Given the description of an element on the screen output the (x, y) to click on. 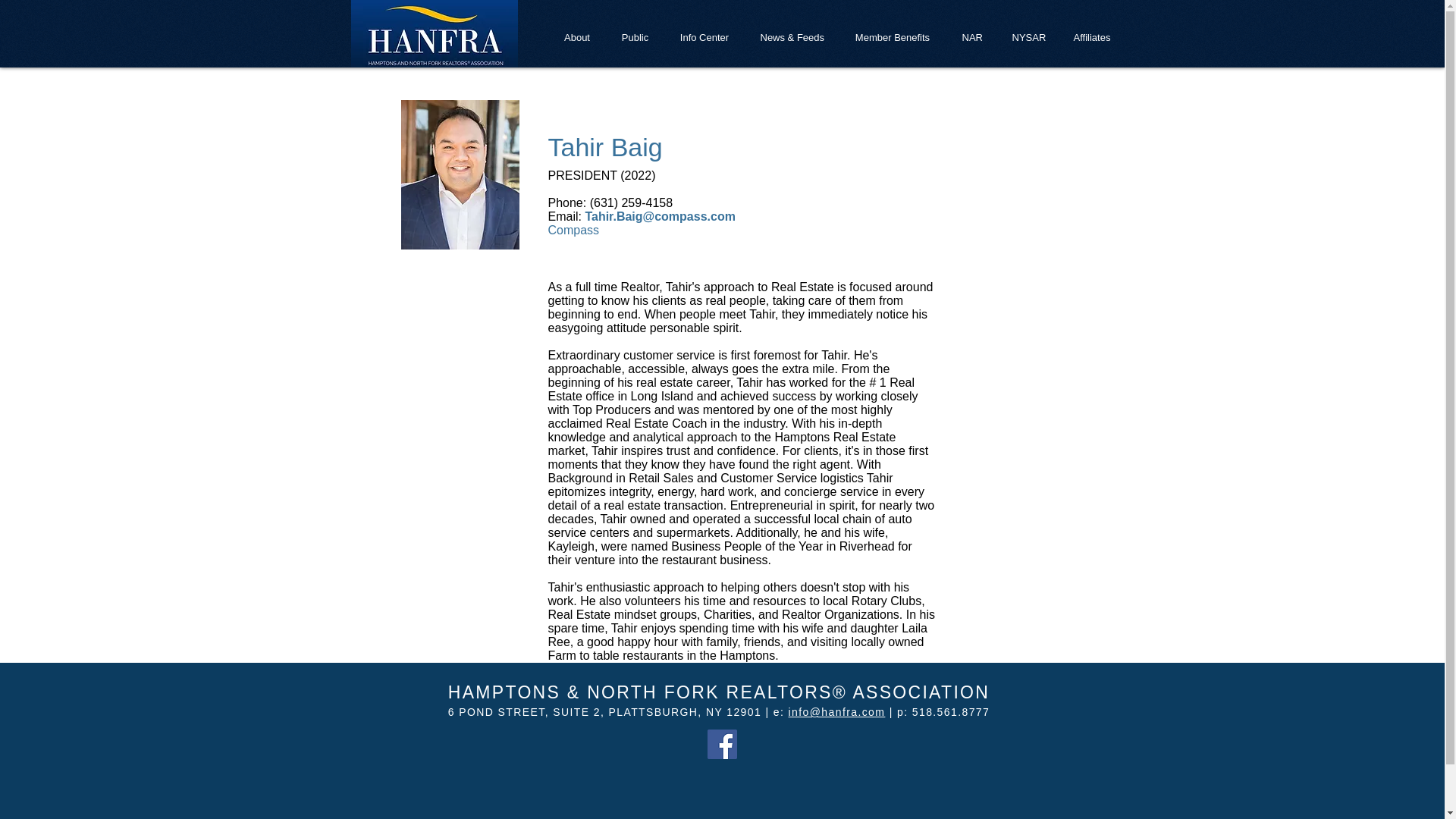
About (576, 36)
Public (635, 36)
NAR (970, 36)
Member Benefits (892, 36)
